Given the description of an element on the screen output the (x, y) to click on. 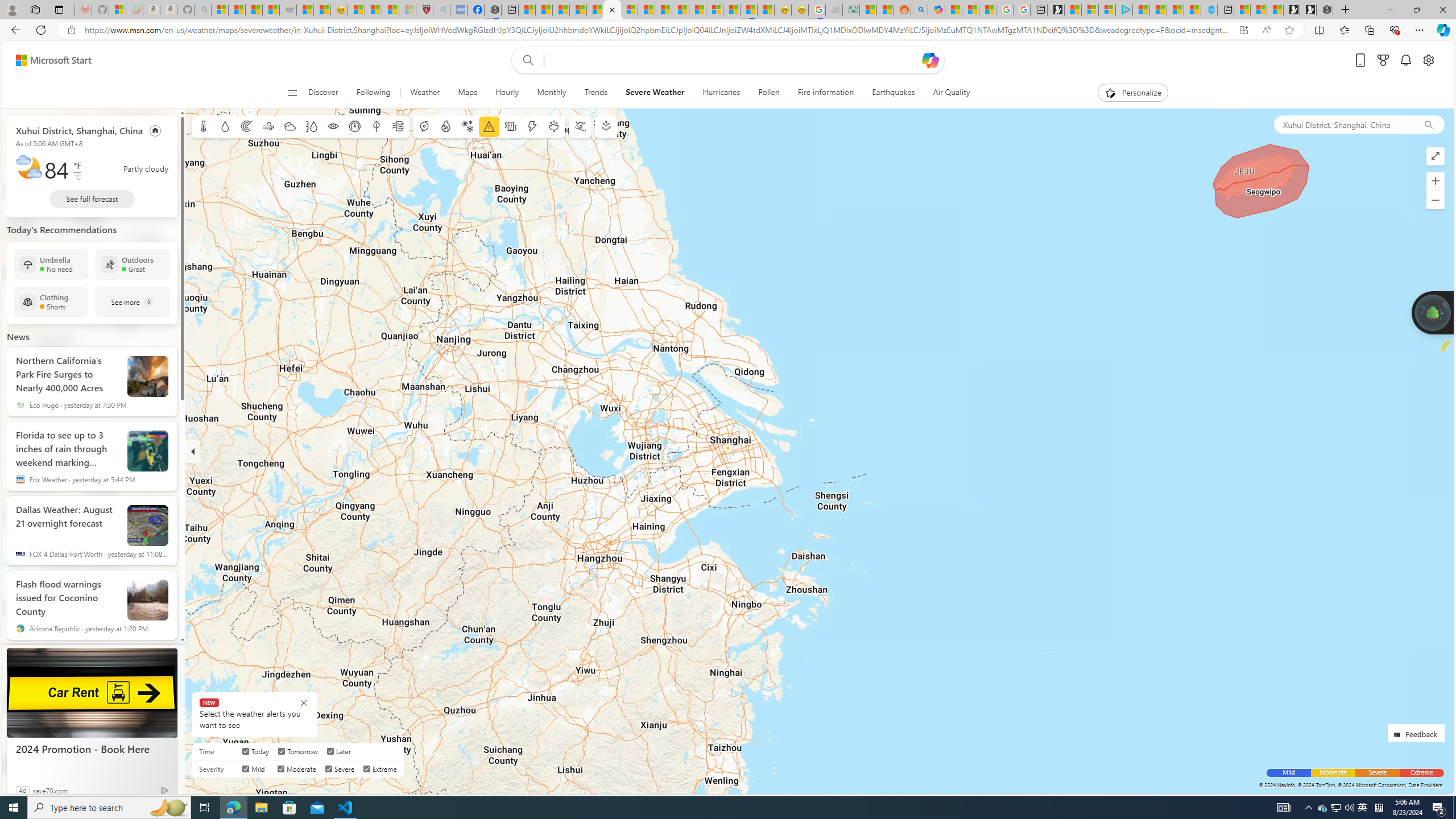
App available. Install Microsoft Start Weather (1243, 29)
Earthquakes (893, 92)
Hurricane (423, 126)
Zoom in (1435, 180)
Pollen (769, 92)
